Given the description of an element on the screen output the (x, y) to click on. 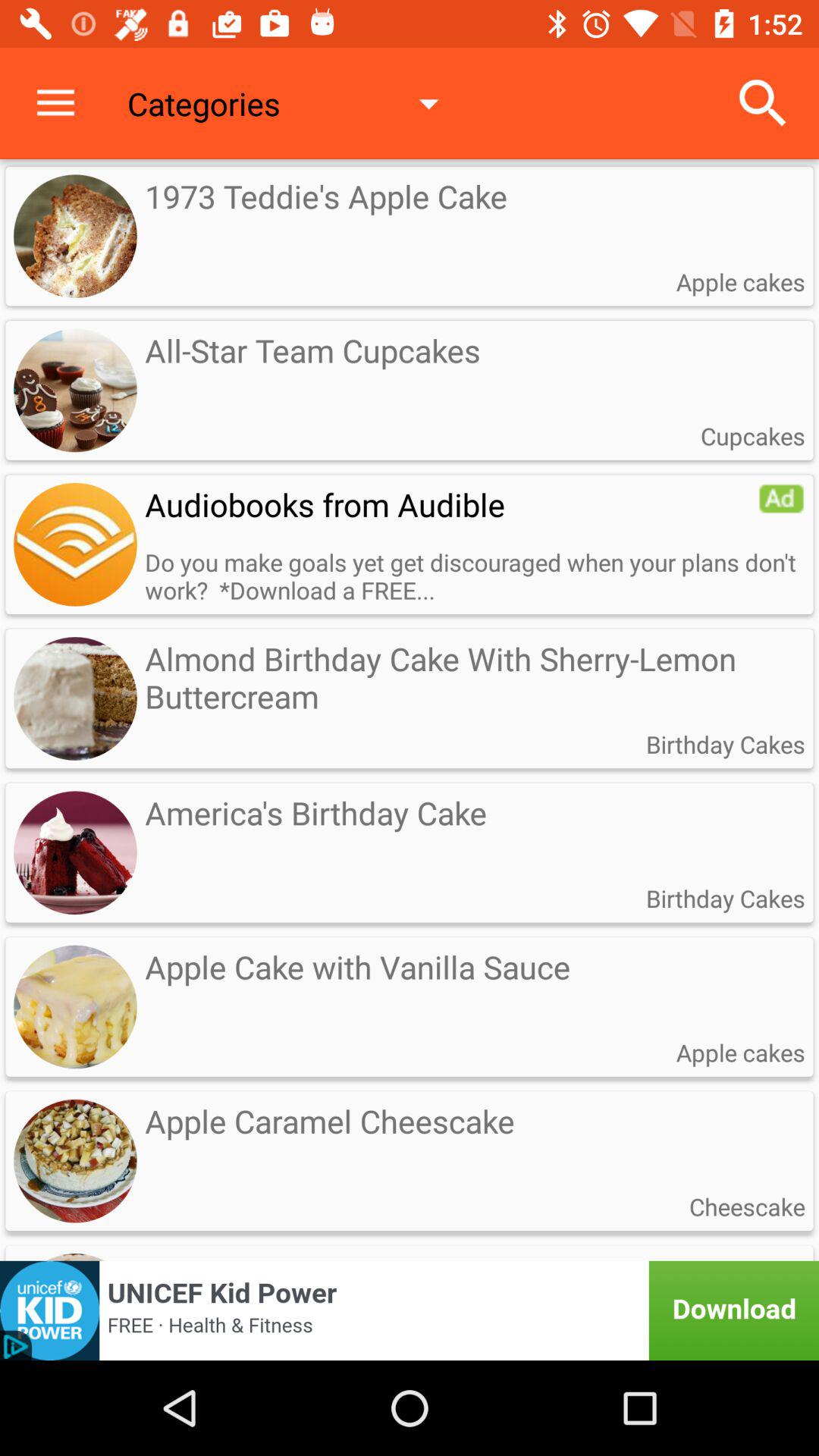
download the unicef app (409, 1310)
